Given the description of an element on the screen output the (x, y) to click on. 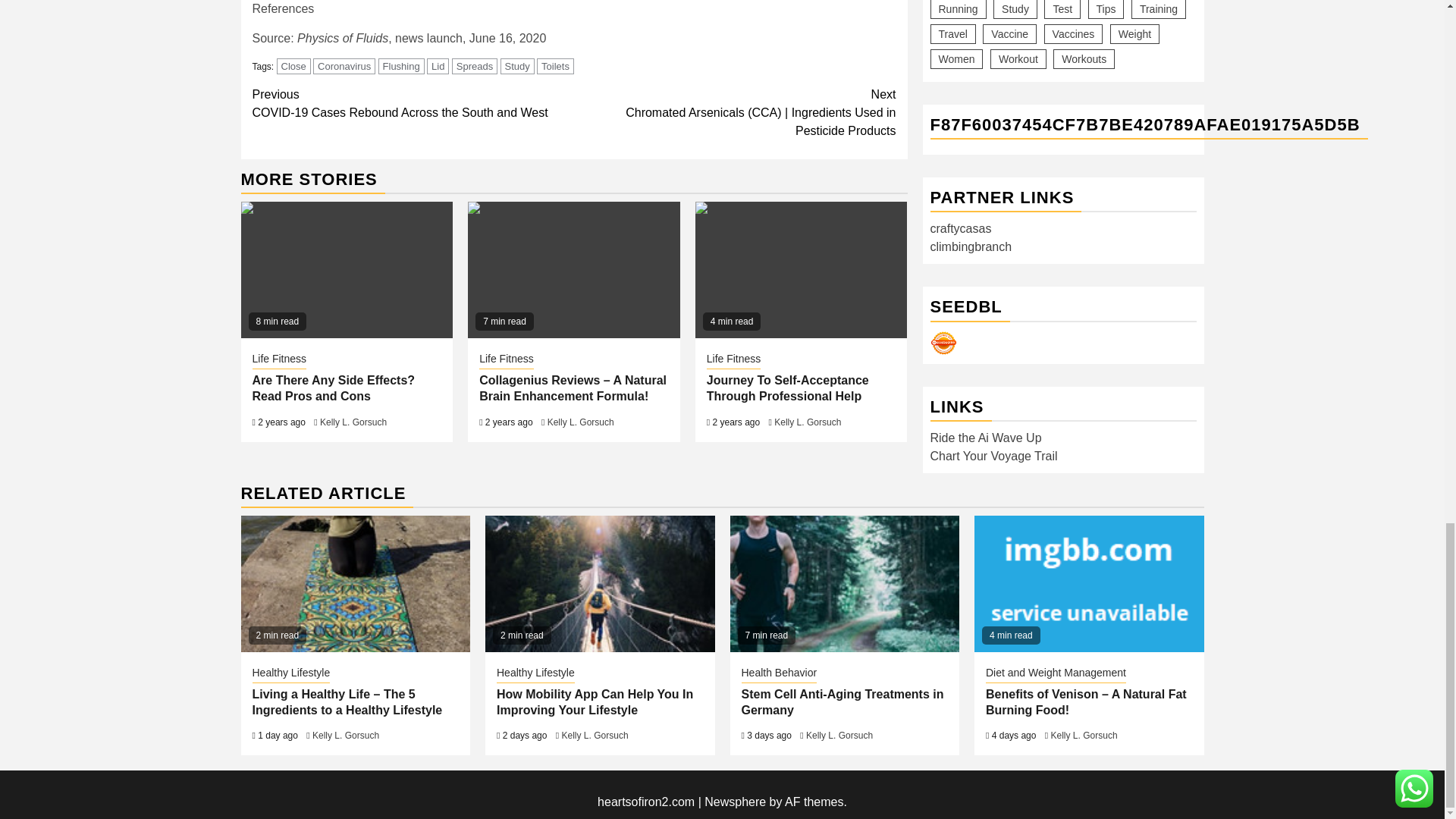
Journey To Self-Acceptance Through Professional Help (801, 269)
Are There Any Side Effects? Read Pros and Cons (332, 387)
Spreads (412, 103)
Study (474, 66)
Close (517, 66)
Kelly L. Gorsuch (293, 66)
Kelly L. Gorsuch (580, 421)
Are There Any Side Effects? Read Pros and Cons (353, 421)
Flushing (346, 269)
Coronavirus (401, 66)
Seedbacklink (344, 66)
Life Fitness (943, 185)
How Mobility App Can Help You In Improving Your Lifestyle (278, 360)
Life Fitness (599, 583)
